Given the description of an element on the screen output the (x, y) to click on. 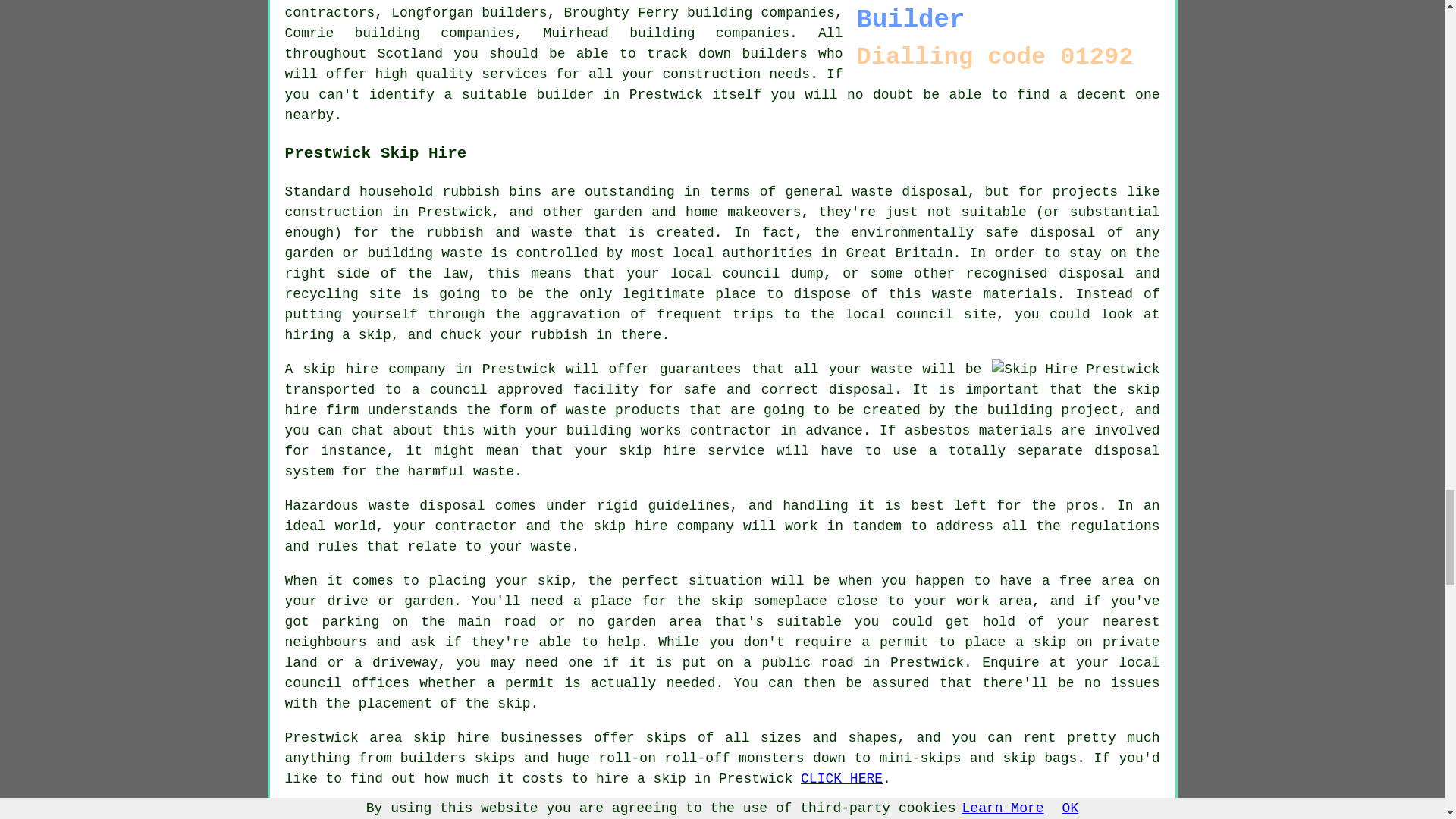
builder (565, 94)
Skip Hire Prestwick (1074, 369)
